Given the description of an element on the screen output the (x, y) to click on. 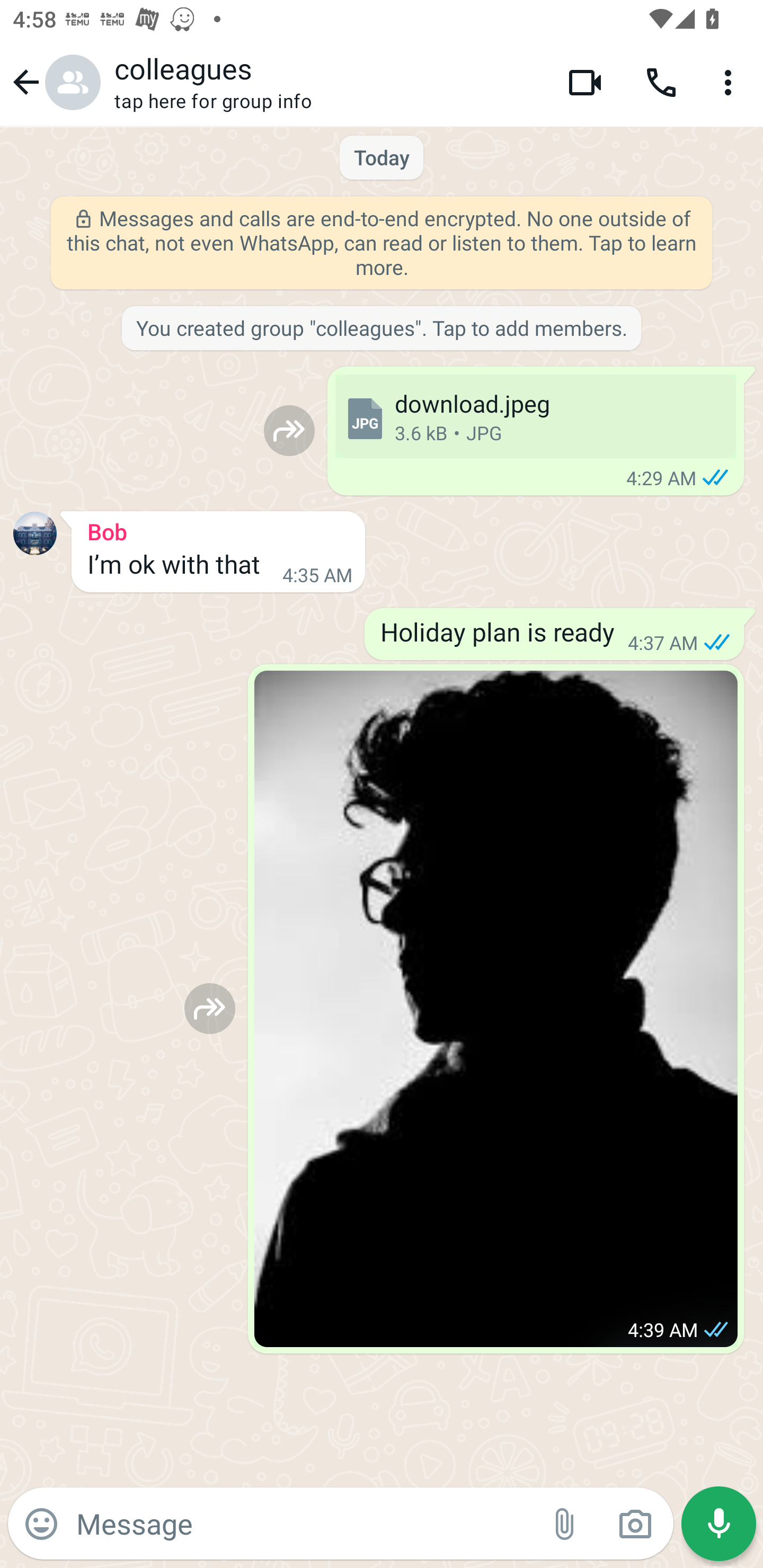
colleagues tap here for group info (327, 82)
Navigate up (54, 82)
Video call (585, 81)
Voice call (661, 81)
More options (731, 81)
download.jpeg 3.6 kB • JPG (535, 415)
Forward to… (288, 430)
Profile picture for Bob (34, 533)
Bob (217, 529)
View photo (495, 1008)
Forward to… (209, 1008)
Emoji (41, 1523)
Attach (565, 1523)
Camera (634, 1523)
Message (303, 1523)
